Given the description of an element on the screen output the (x, y) to click on. 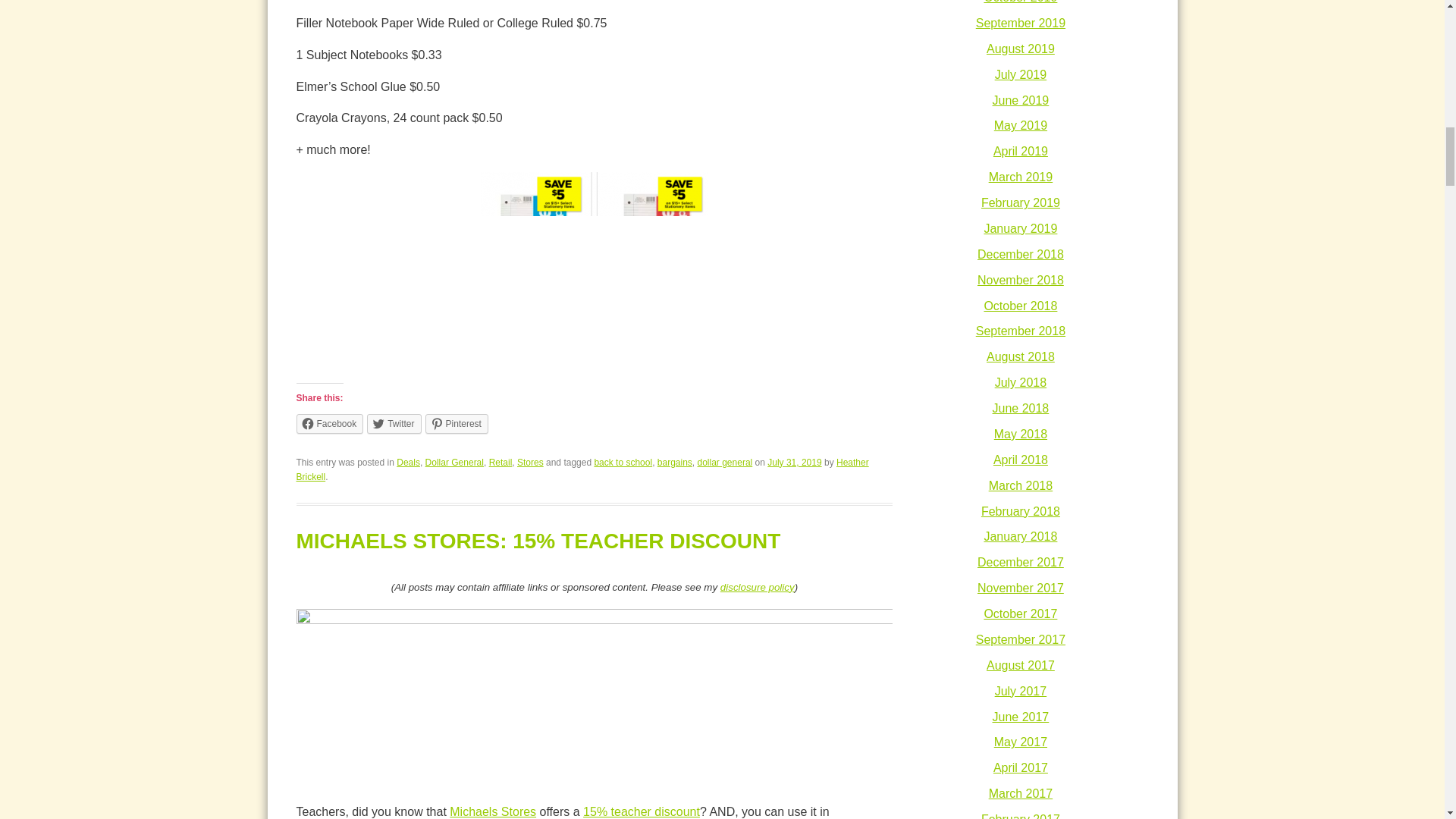
9:22 am (794, 462)
View all posts by Heather Brickell (581, 469)
Click to share on Pinterest (456, 424)
Click to share on Twitter (393, 424)
Click to share on Facebook (328, 424)
